Given the description of an element on the screen output the (x, y) to click on. 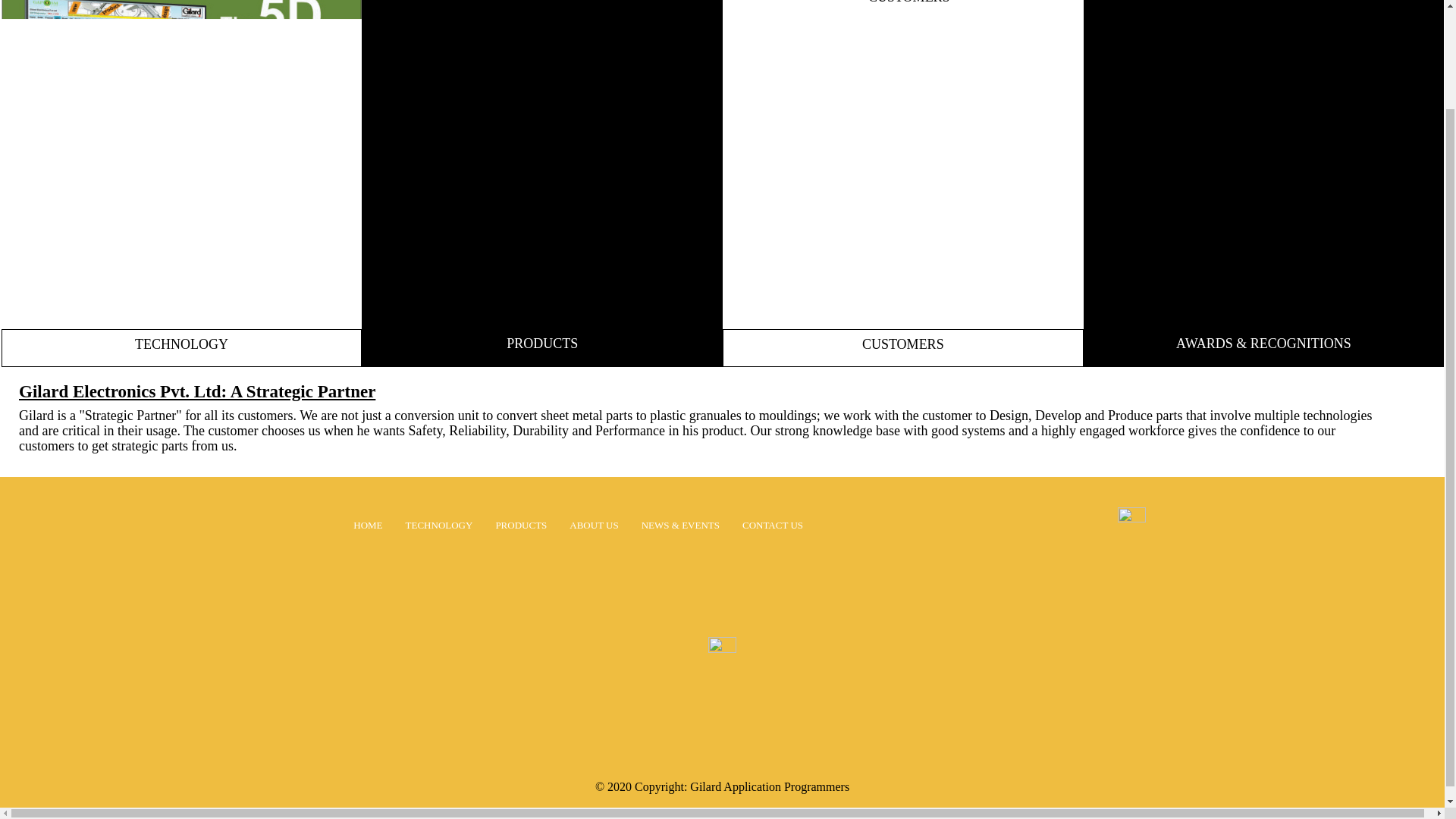
ABOUT US (593, 524)
HOME (367, 524)
PRODUCTS (521, 524)
CONTACT US (772, 524)
TECHNOLOGY (439, 524)
